Given the description of an element on the screen output the (x, y) to click on. 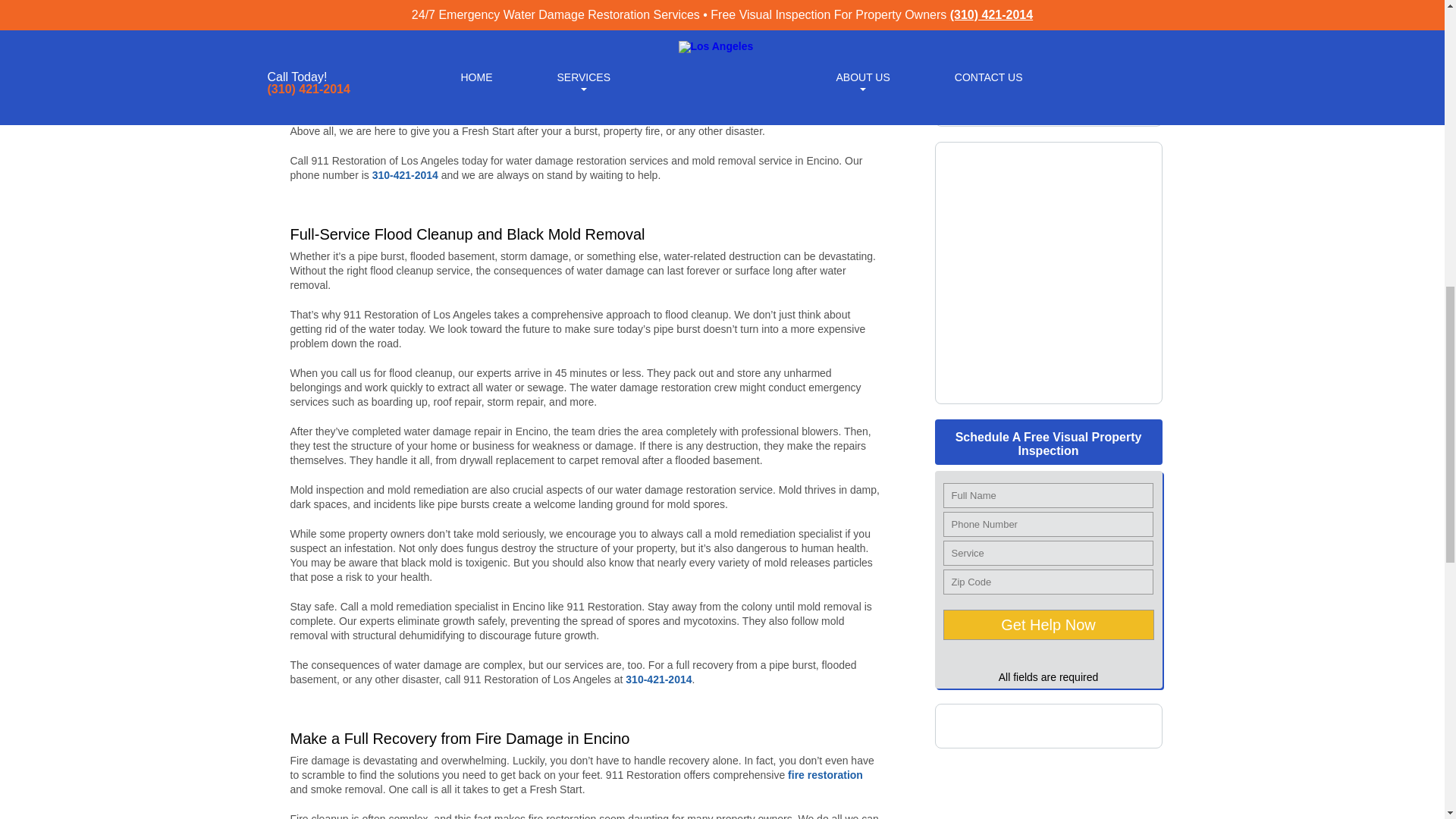
Service Area (1048, 388)
Get Help Now (1048, 624)
